Given the description of an element on the screen output the (x, y) to click on. 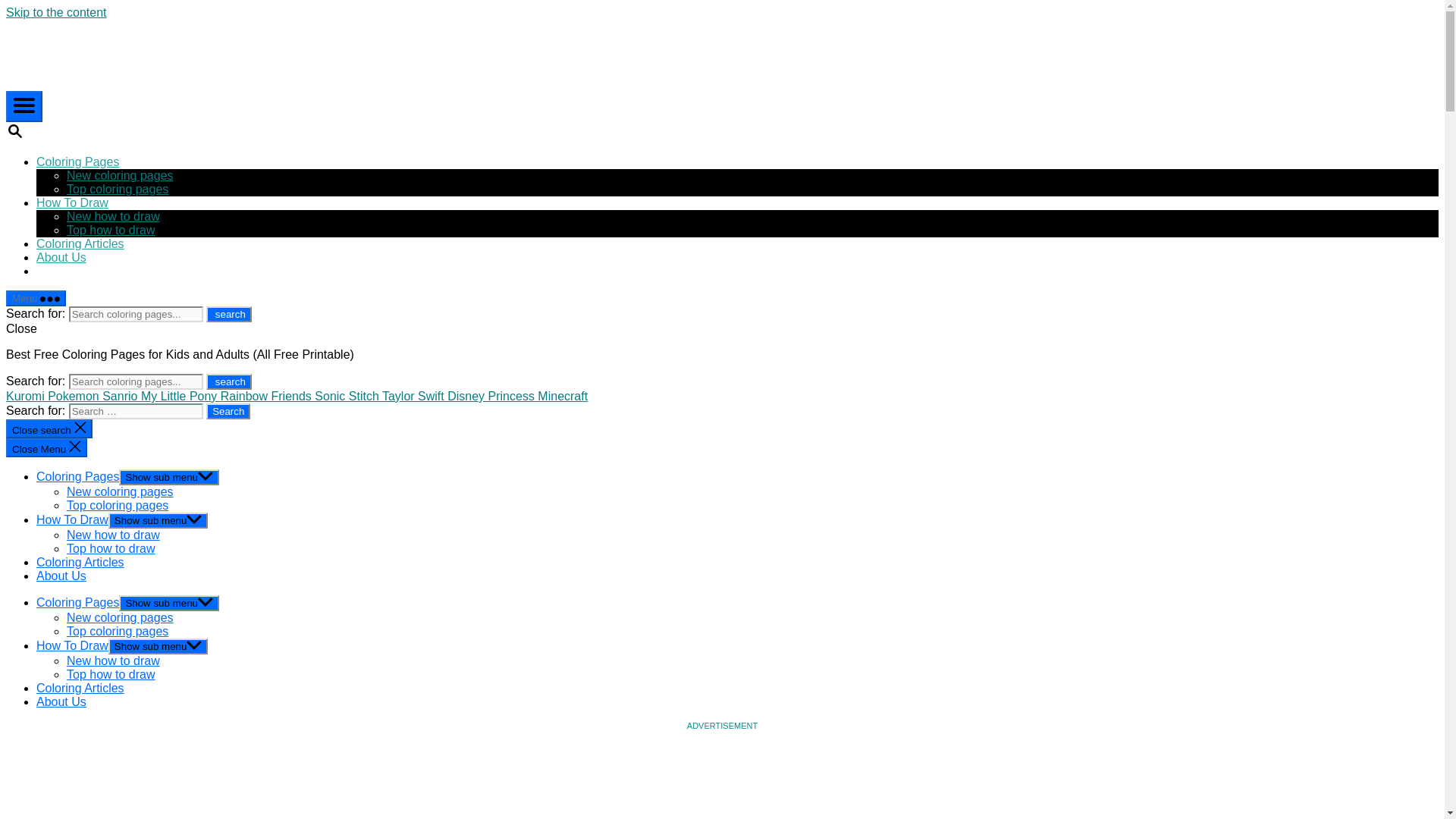
New coloring pages (119, 491)
Rainbow Friends (268, 395)
Taylor Swift Coloring Pages (413, 395)
Sonic (330, 395)
Kuromi (26, 395)
Minecraft (562, 395)
Sanrio Coloring Pages (121, 395)
Menu (35, 298)
Show sub menu (157, 520)
Close Menu (46, 447)
Show sub menu (169, 477)
About Us (60, 575)
Pokemon Coloring Pages (74, 395)
Search (228, 411)
Kuromi Coloring Pages (26, 395)
